Given the description of an element on the screen output the (x, y) to click on. 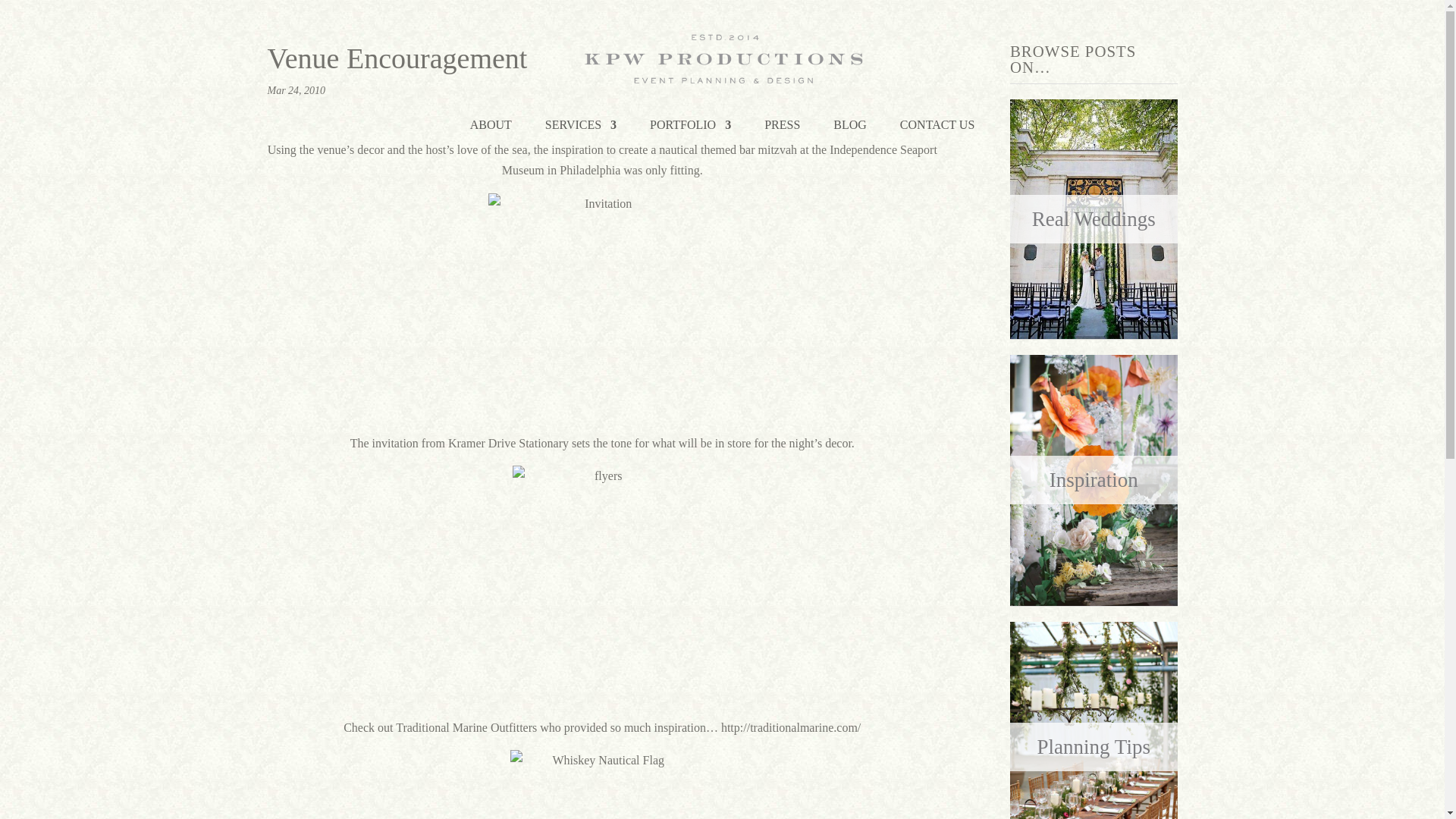
SERVICES (579, 133)
PORTFOLIO (689, 133)
Planning Tips (1093, 746)
BLOG (849, 133)
Inspiration (1093, 479)
Real Weddings (1094, 219)
PRESS (781, 133)
CONTACT US (936, 133)
ABOUT (491, 133)
